Given the description of an element on the screen output the (x, y) to click on. 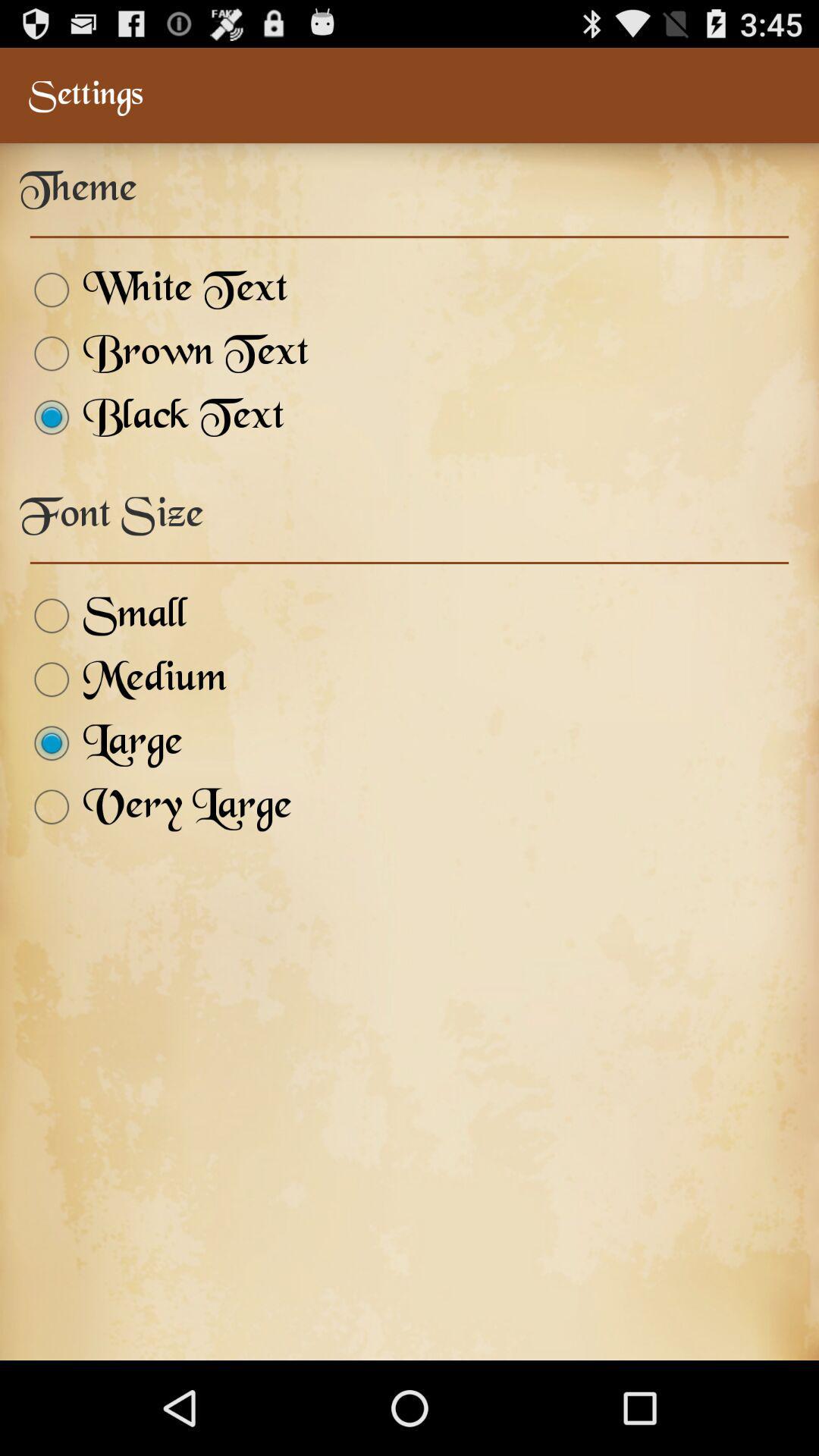
open the icon above the font size icon (151, 417)
